Given the description of an element on the screen output the (x, y) to click on. 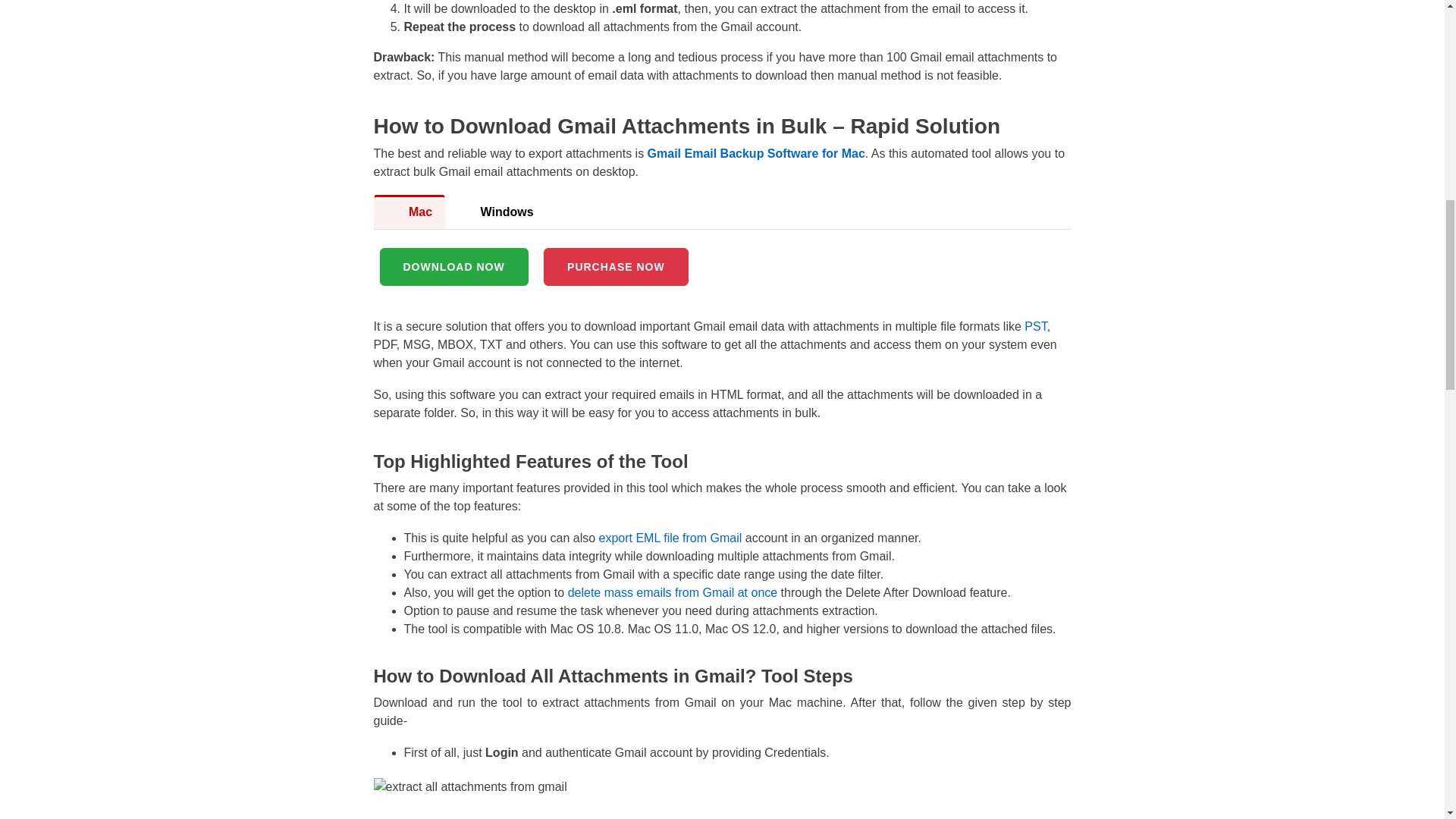
delete mass emails from Gmail at once (672, 592)
DOWNLOAD NOW (452, 266)
PURCHASE NOW (615, 266)
Gmail Email Backup Software for Mac (755, 153)
Mac (408, 211)
PST (1035, 326)
Windows (496, 211)
export EML file from Gmail (670, 537)
